Given the description of an element on the screen output the (x, y) to click on. 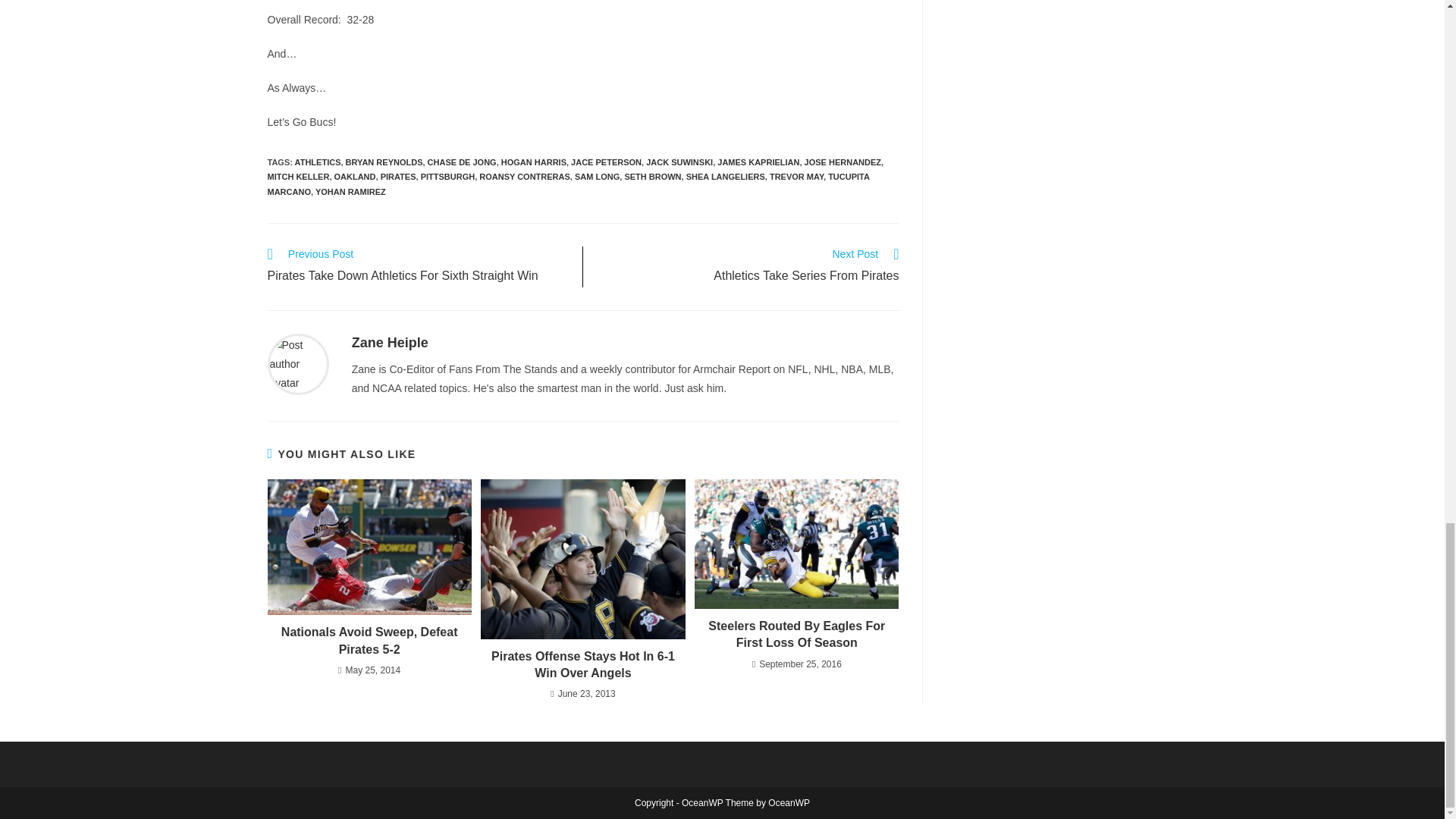
ROANSY CONTRERAS (524, 175)
TREVOR MAY (797, 175)
Zane Heiple (390, 342)
PIRATES (398, 175)
JOSE HERNANDEZ (842, 162)
MITCH KELLER (297, 175)
Visit author page (390, 342)
OAKLAND (354, 175)
SAM LONG (597, 175)
HOGAN HARRIS (533, 162)
